Given the description of an element on the screen output the (x, y) to click on. 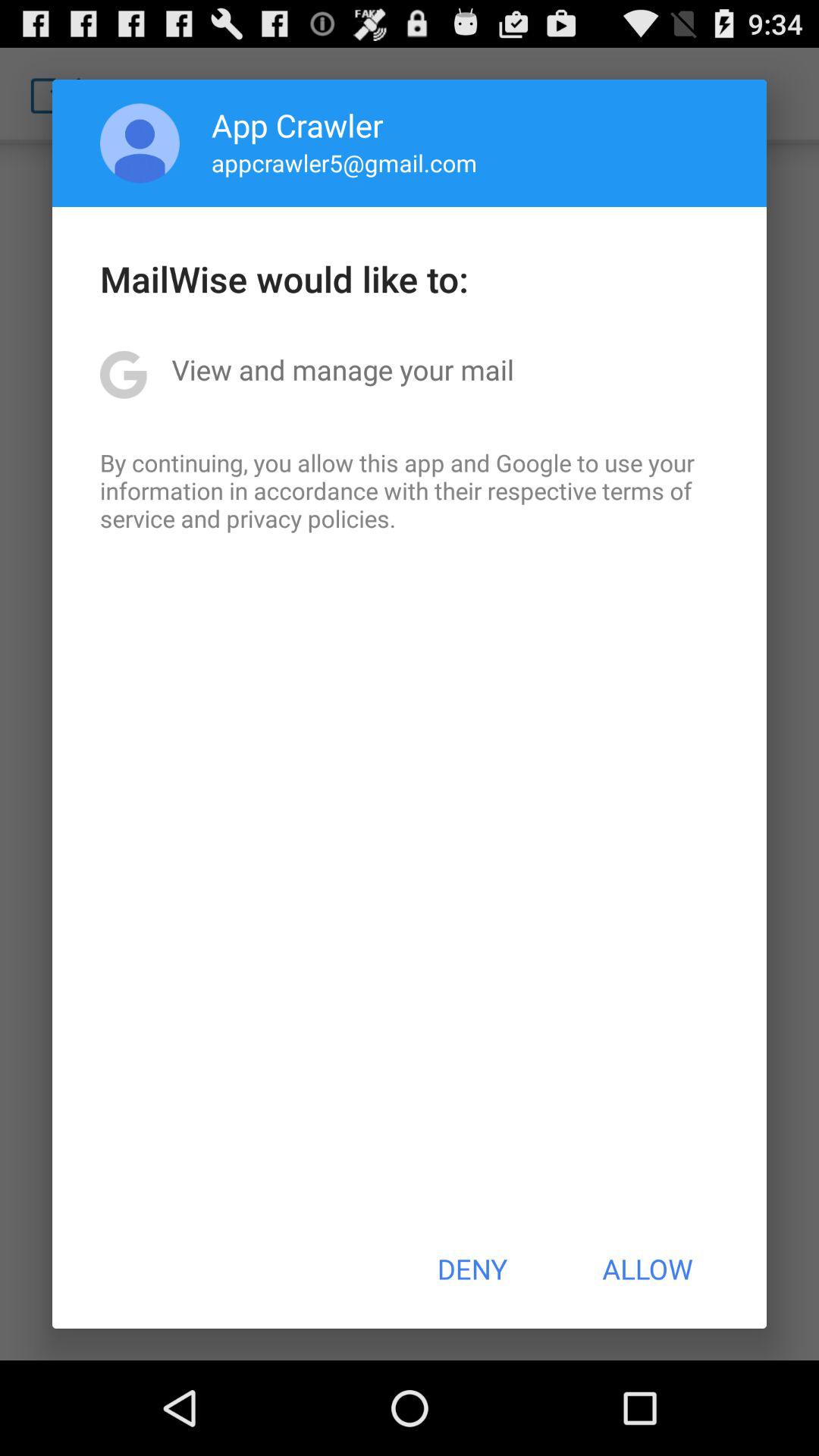
turn on deny item (471, 1268)
